Given the description of an element on the screen output the (x, y) to click on. 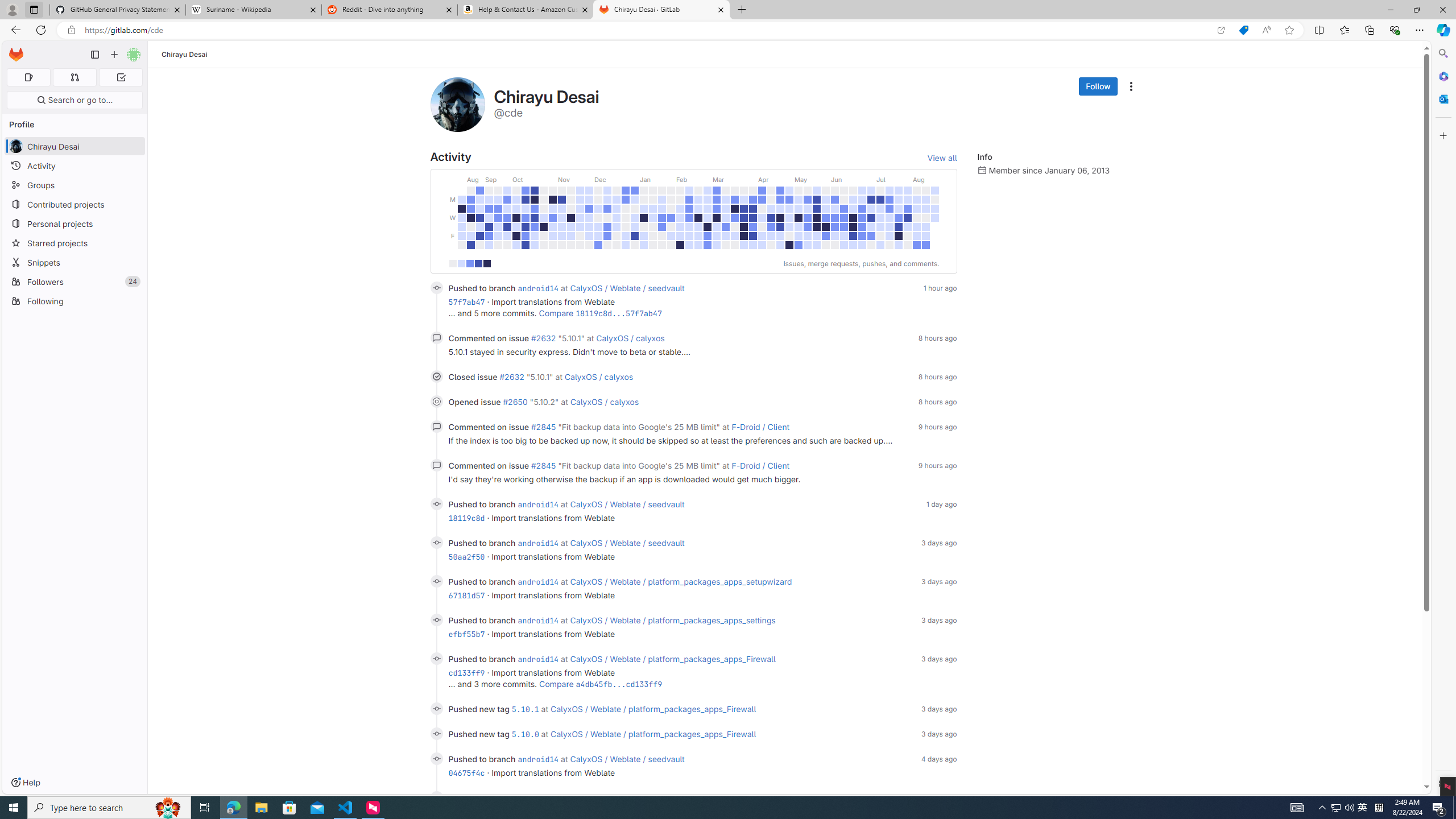
Snippets (74, 262)
AutomationID: dropdown-toggle-btn-33 (1130, 85)
Personal projects (74, 223)
